Given the description of an element on the screen output the (x, y) to click on. 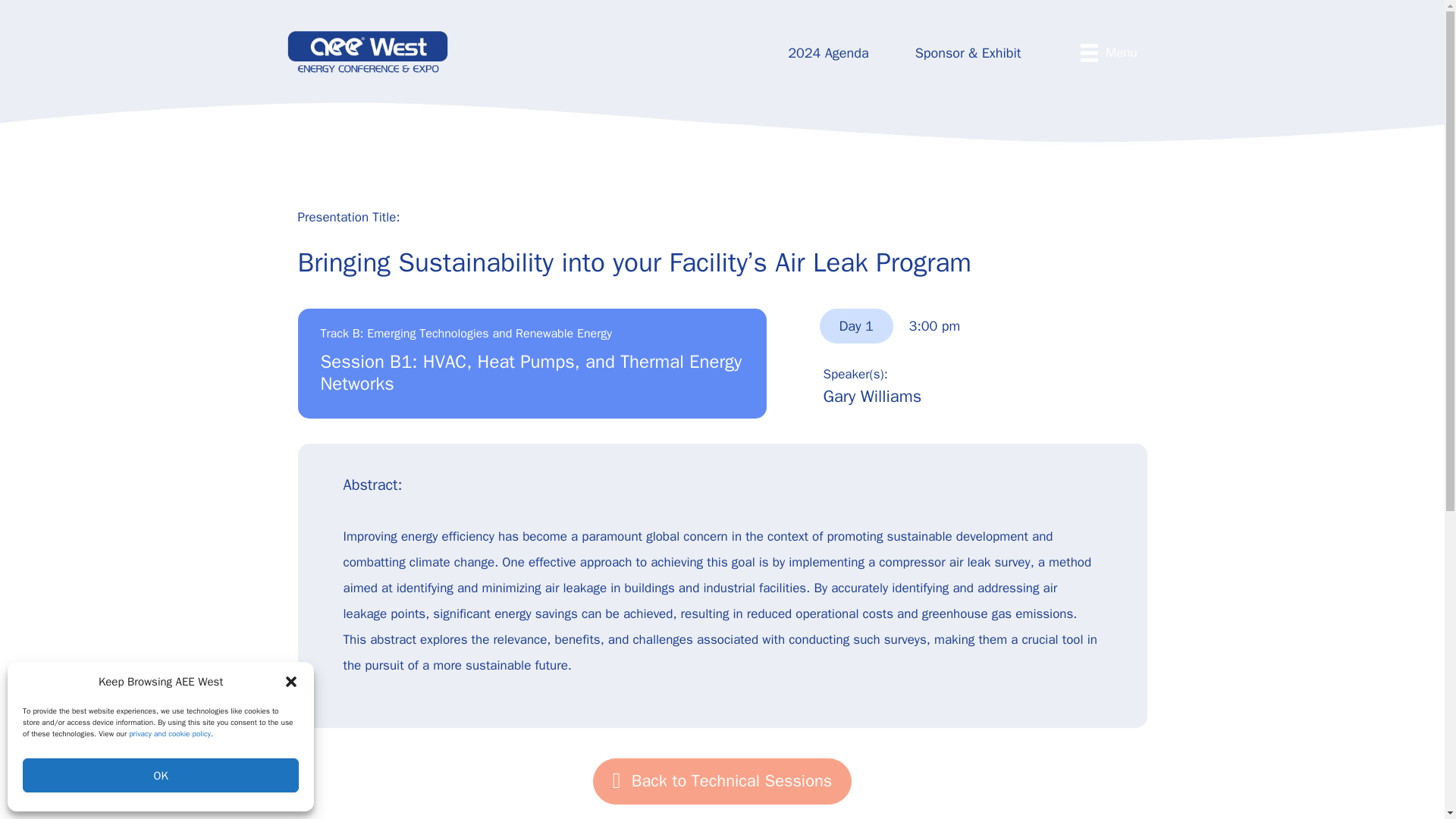
privacy and cookie policy (170, 733)
uabb-menu-toggle (1088, 53)
2024 Agenda (828, 53)
OK (160, 775)
aee-west-logo-blue-text-1 (366, 52)
Gary Williams (872, 396)
